Given the description of an element on the screen output the (x, y) to click on. 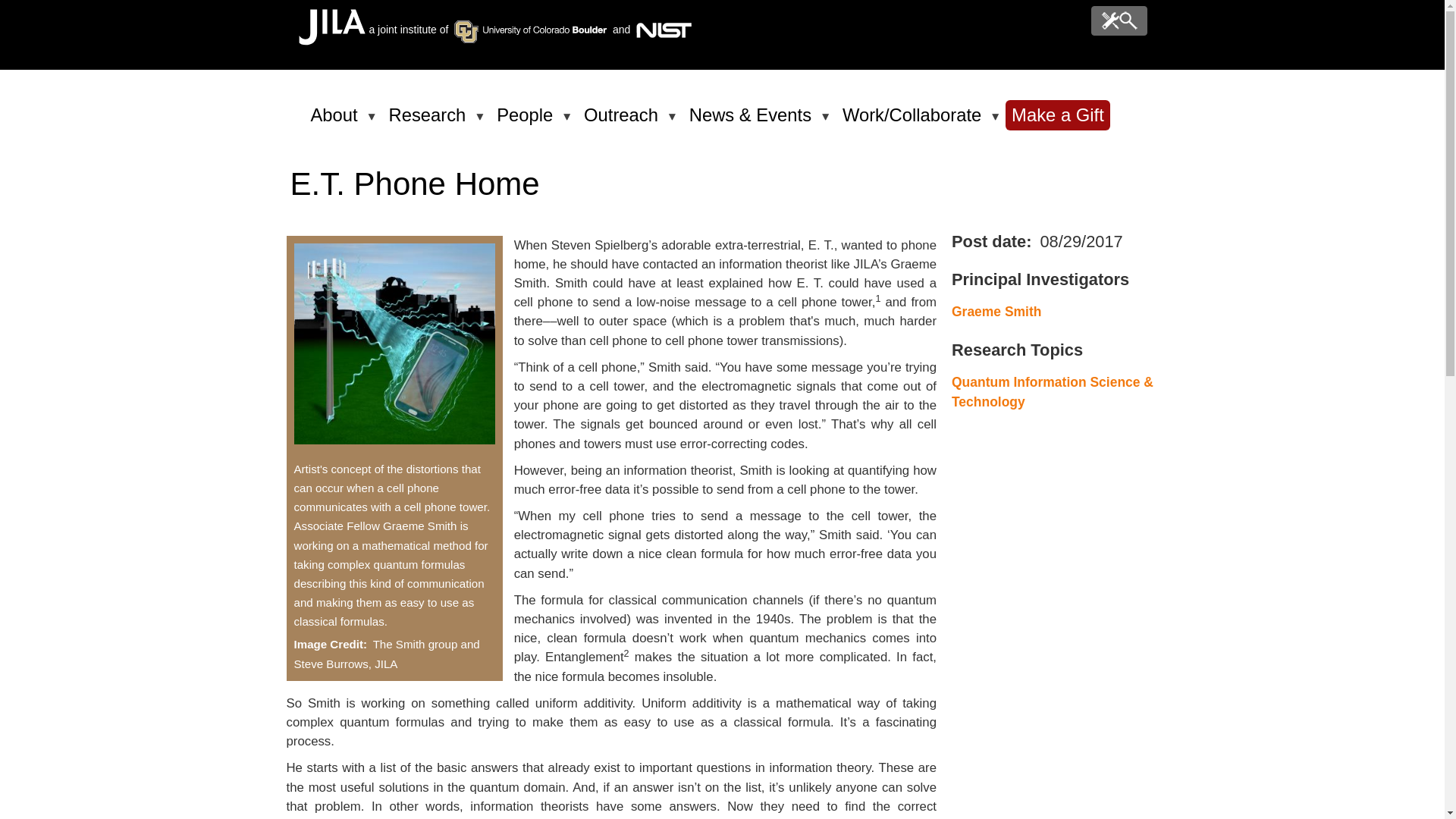
Home (331, 41)
